Given the description of an element on the screen output the (x, y) to click on. 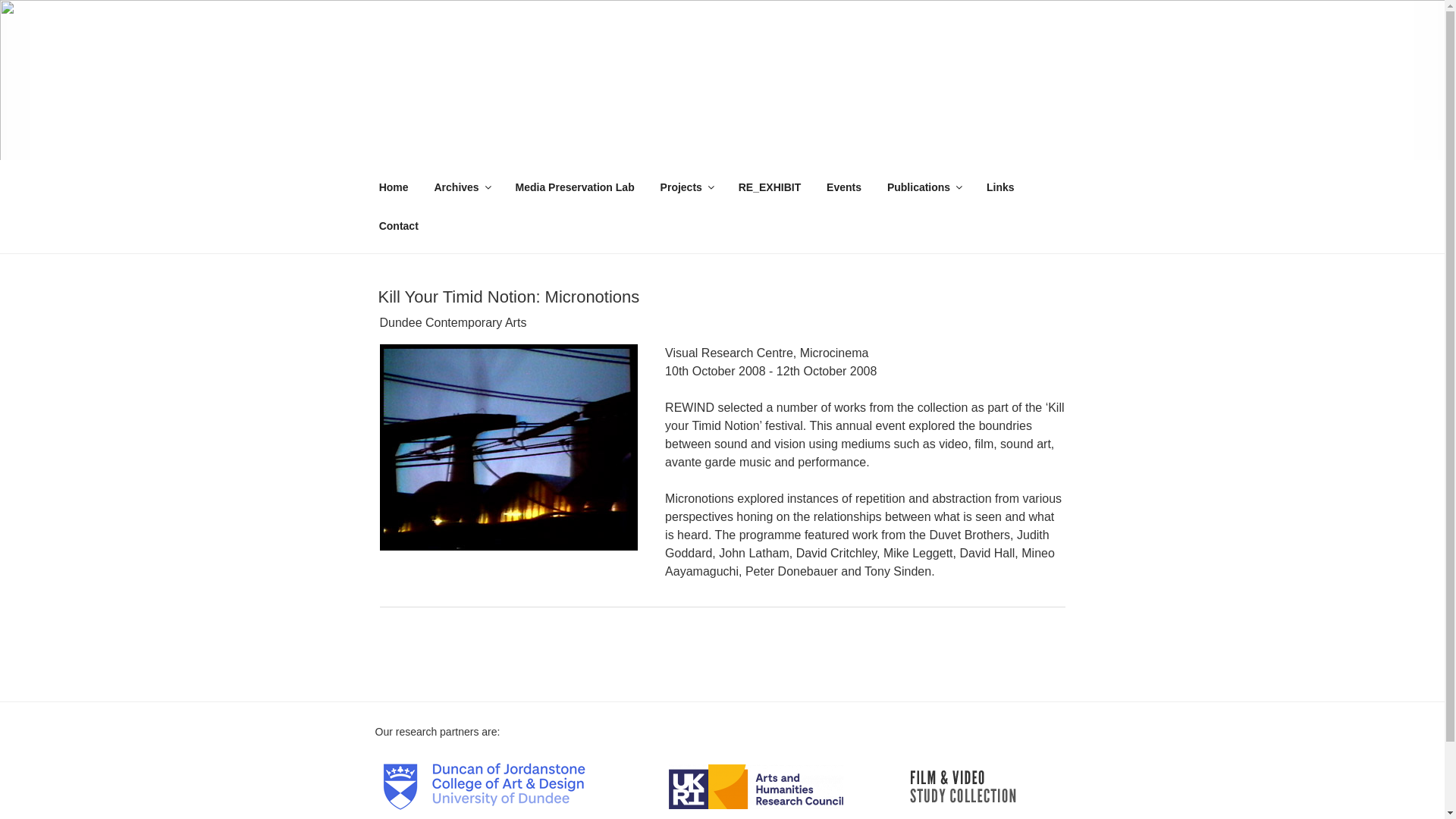
Links (1000, 187)
Kill Your Timid Notion: Micronotions (508, 296)
Contact (398, 226)
Projects (686, 187)
Events (843, 187)
Home (394, 187)
Publications (924, 187)
Media Preservation Lab (574, 187)
Archives (461, 187)
